Given the description of an element on the screen output the (x, y) to click on. 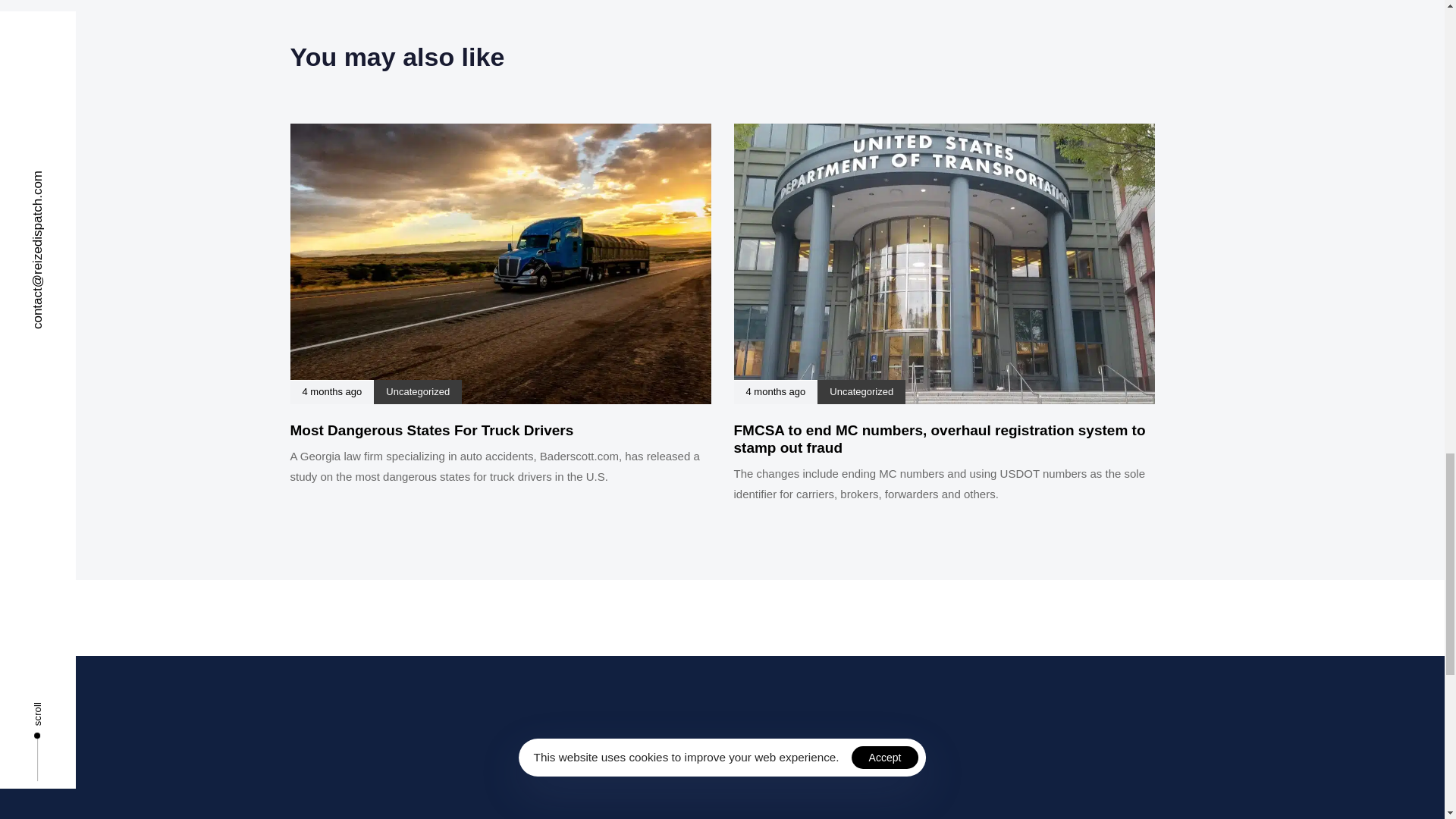
Uncategorized (861, 391)
Most Dangerous States For Truck Drivers (431, 430)
Uncategorized (417, 391)
